Given the description of an element on the screen output the (x, y) to click on. 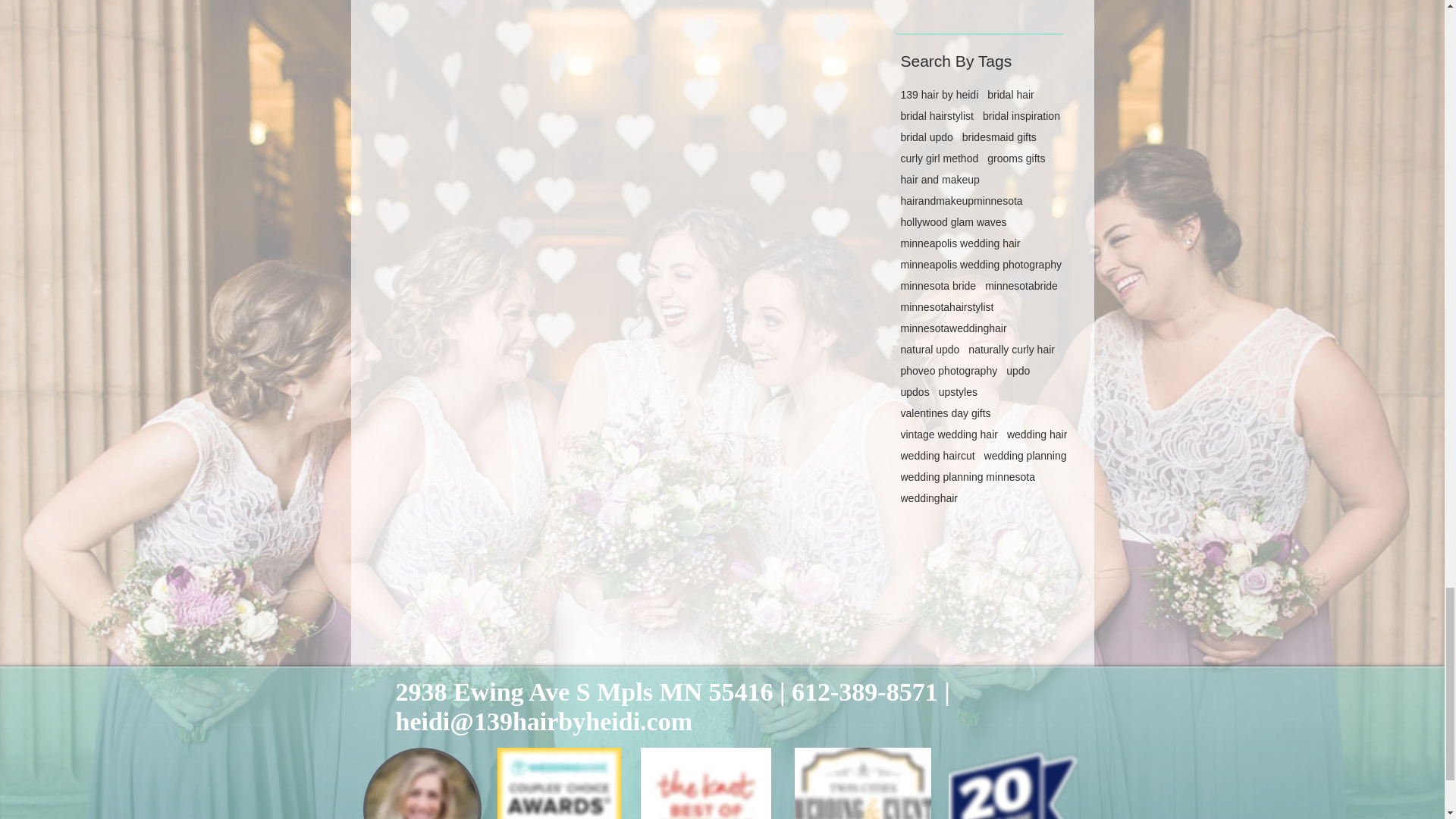
bridal hairstylist (937, 115)
curly girl method (939, 158)
minnesota bride (938, 285)
bridal inspiration (1020, 115)
hair and makeup (940, 179)
hollywood glam waves (954, 222)
bridal hair (1010, 94)
bridal updo (927, 137)
grooms gifts (1016, 158)
minneapolis wedding hair (960, 243)
